Given the description of an element on the screen output the (x, y) to click on. 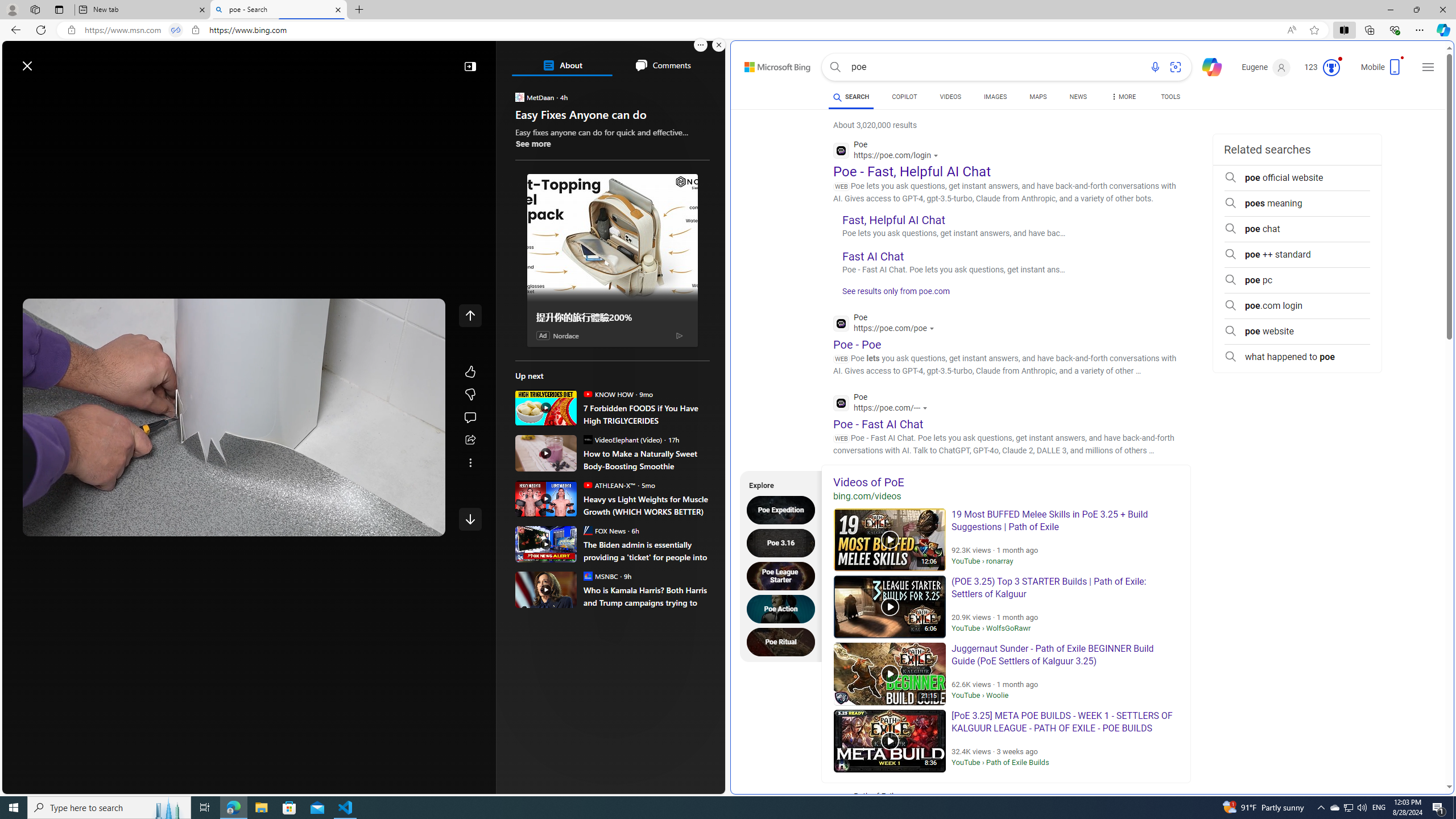
Unmute (427, 523)
Path of Exile (912, 803)
Share this story (469, 440)
NEWS (1078, 98)
Poe (882, 403)
Share this story (469, 440)
Explore (777, 483)
